Given the description of an element on the screen output the (x, y) to click on. 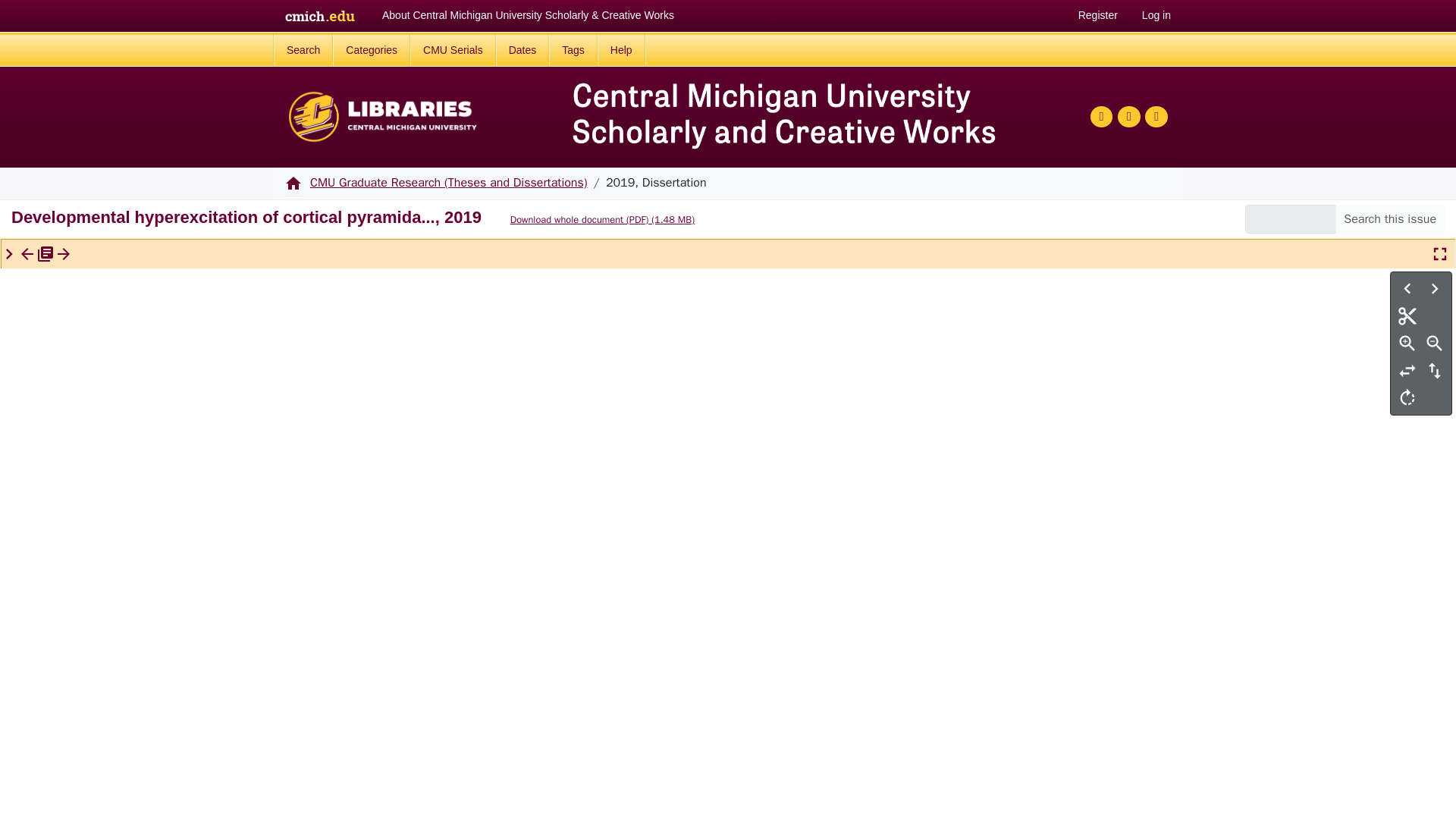
Previous document (26, 253)
Download PDF (593, 219)
Maximize (1439, 253)
Show info pane (8, 253)
Search this issue (1389, 218)
Dates (523, 50)
Rotate image (1407, 397)
Previous page (1407, 288)
Zoom in (1407, 343)
Zoom in (1407, 343)
Start clip (1407, 316)
CMU Serials (453, 50)
Help (620, 50)
Tags (572, 50)
CMU Online Digital Object Repository (382, 116)
